Given the description of an element on the screen output the (x, y) to click on. 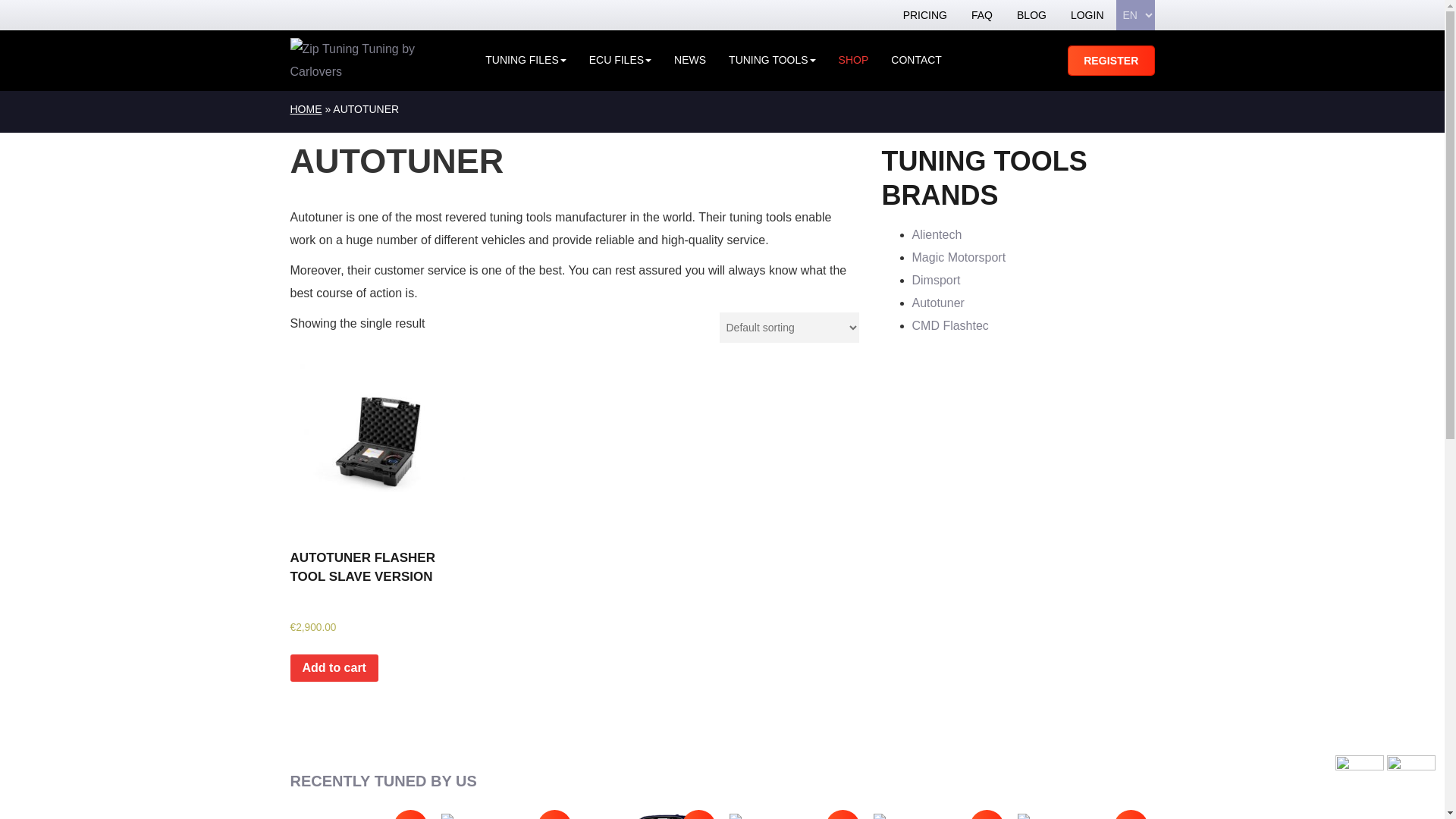
FAQ (981, 14)
TUNING FILES (525, 60)
PRICING (925, 14)
BLOG (1031, 14)
LOGIN (1087, 14)
ECU FILES (620, 60)
